Given the description of an element on the screen output the (x, y) to click on. 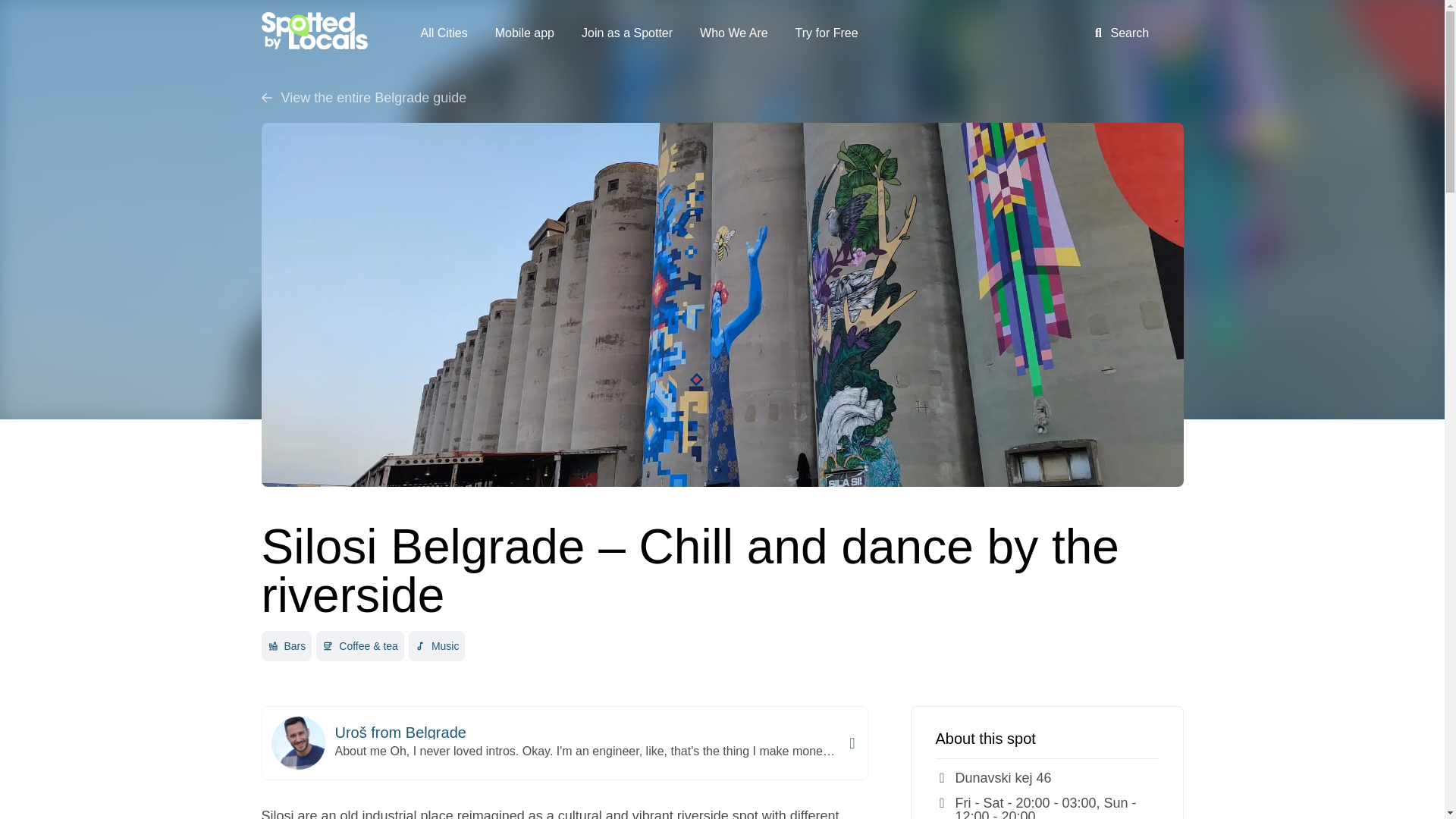
Mobile app (524, 33)
All Cities (443, 33)
Join as a Spotter (626, 33)
Who We Are (734, 33)
View the entire Belgrade guide (721, 97)
Try for Free (826, 33)
